Given the description of an element on the screen output the (x, y) to click on. 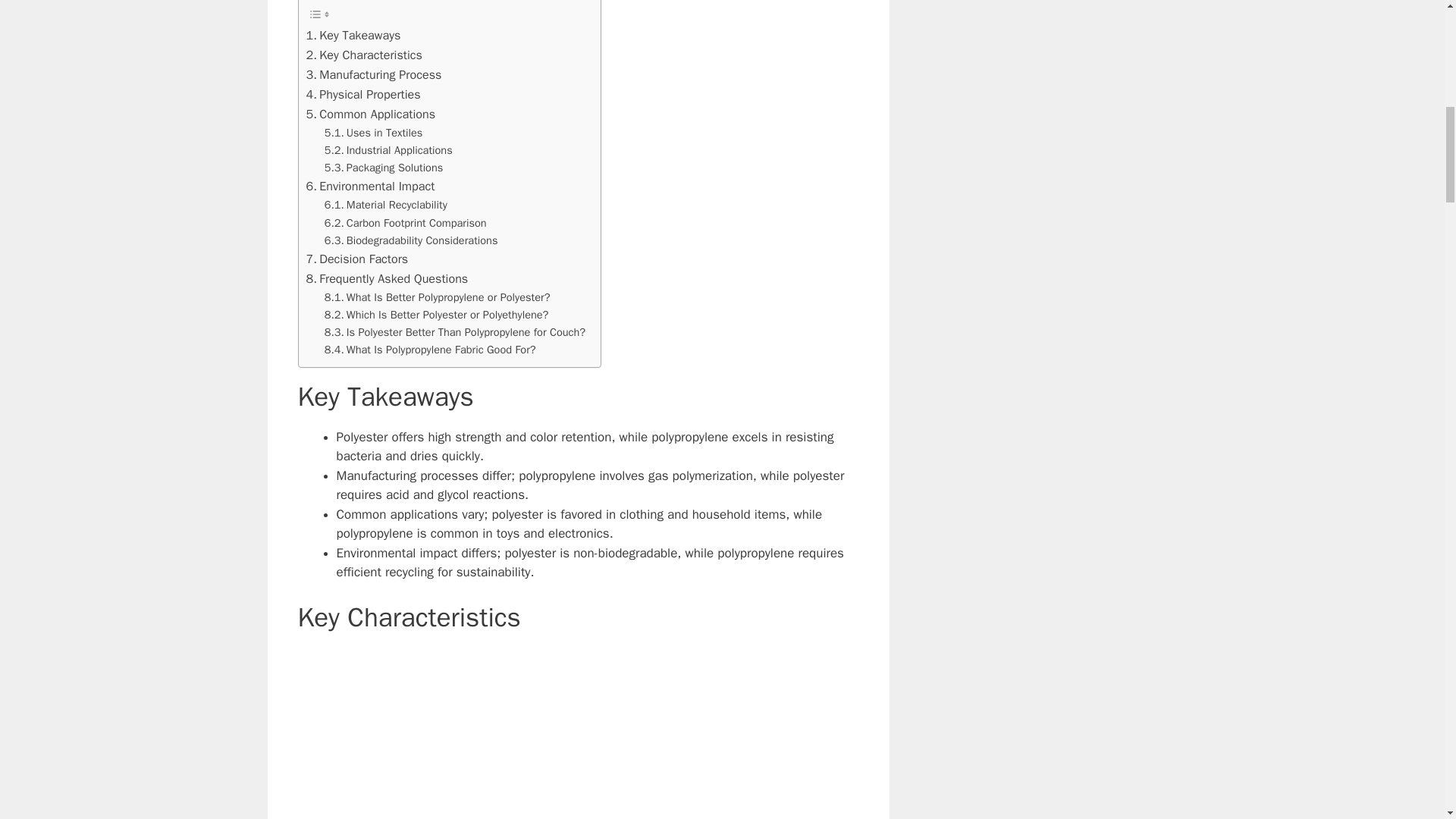
Which Is Better Polyester or Polyethylene? (436, 314)
Common Applications (370, 114)
Uses in Textiles (373, 132)
Environmental Impact (370, 186)
Key Characteristics (363, 55)
Biodegradability Considerations (410, 240)
Physical Properties (362, 94)
Decision Factors (357, 259)
Uses in Textiles (373, 132)
Manufacturing Process (373, 75)
Material Recyclability (385, 204)
Carbon Footprint Comparison (405, 222)
Carbon Footprint Comparison (405, 222)
Decision Factors (357, 259)
Key Takeaways (353, 35)
